Given the description of an element on the screen output the (x, y) to click on. 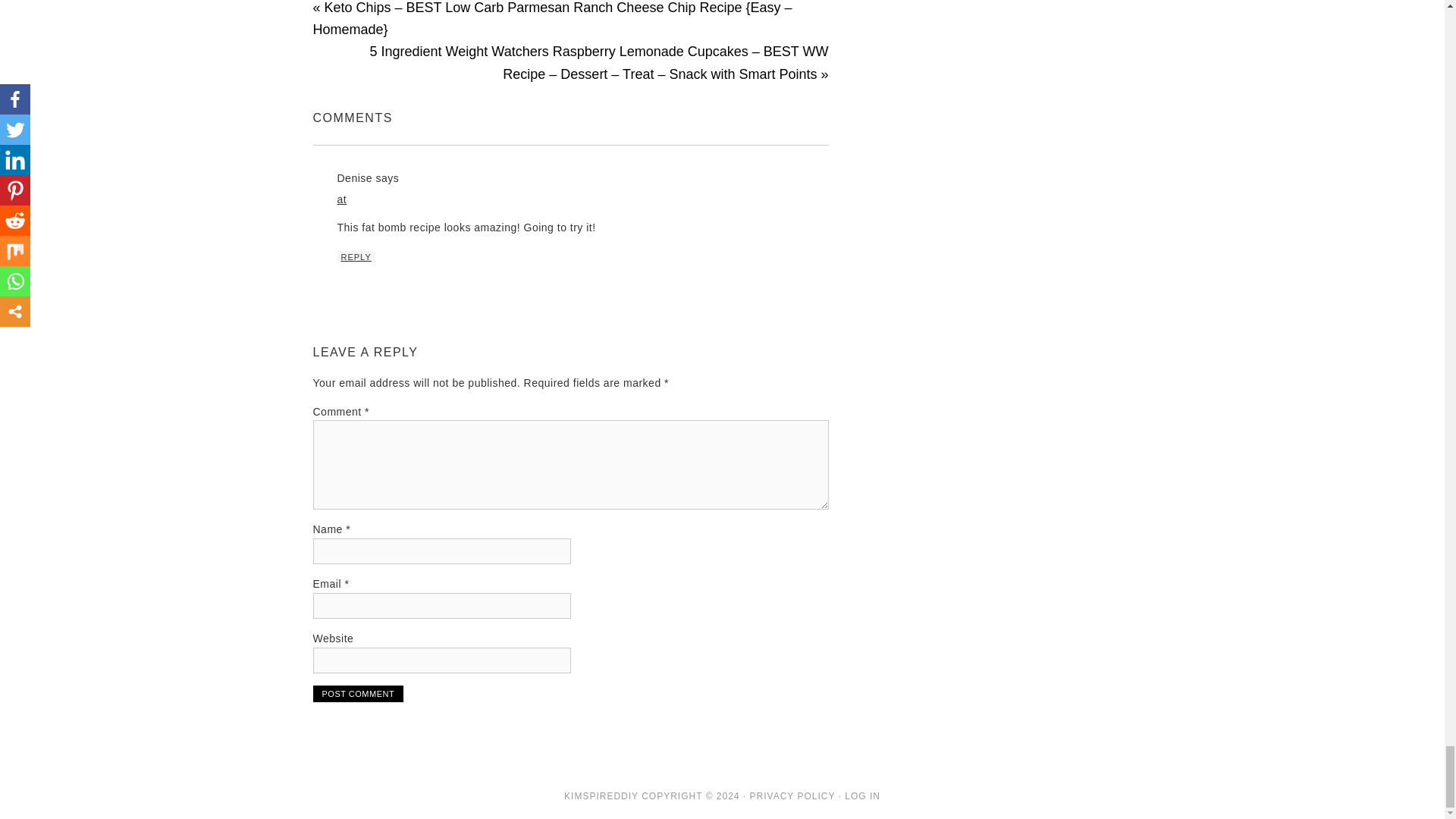
Post Comment (358, 693)
